Given the description of an element on the screen output the (x, y) to click on. 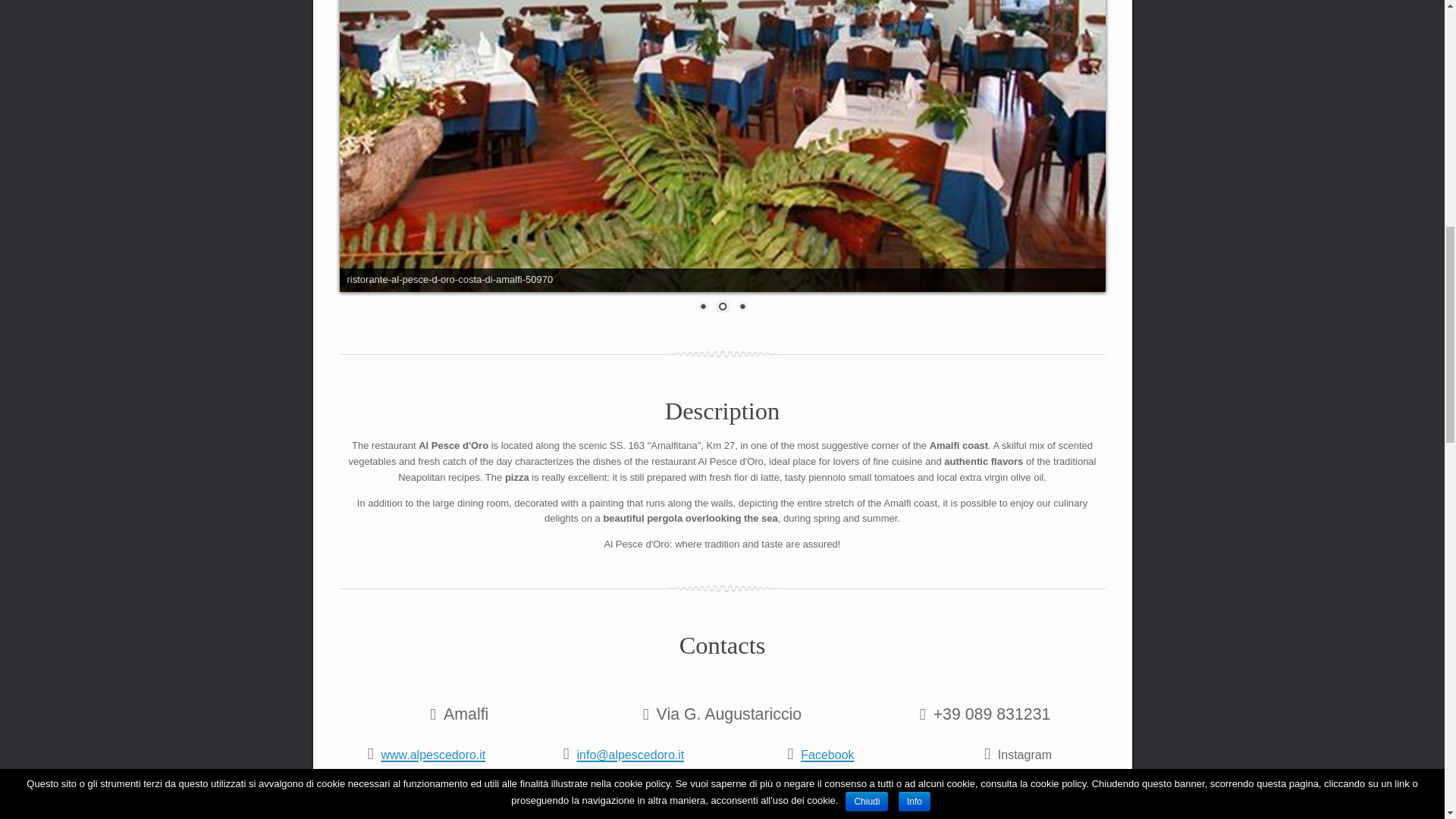
1 (702, 307)
3 (742, 307)
Trip Advisor (428, 792)
2 (722, 307)
www.alpescedoro.it (428, 753)
Facebook (823, 753)
